Given the description of an element on the screen output the (x, y) to click on. 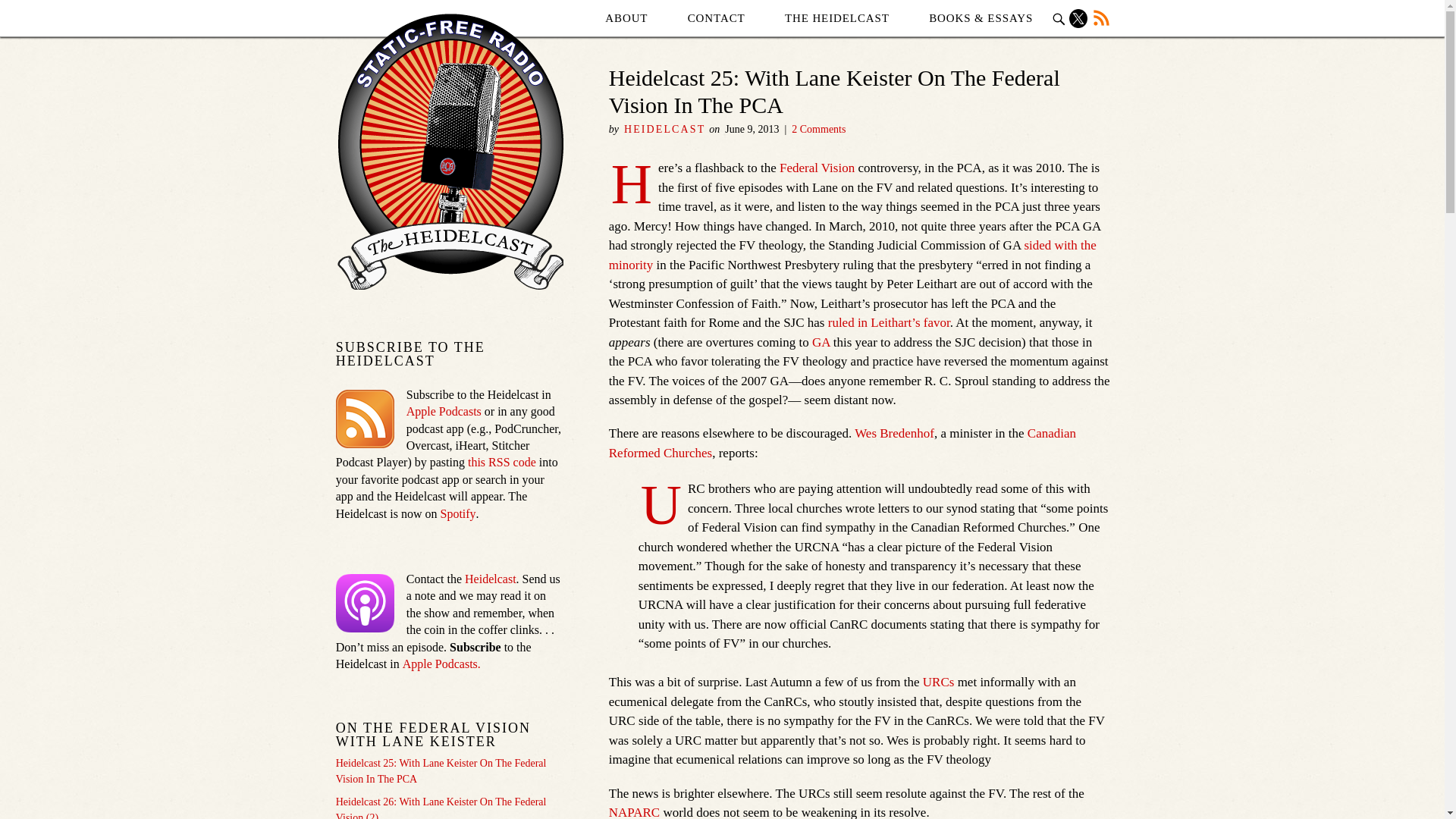
About (625, 18)
2 Comments (818, 129)
NAPARC (633, 812)
GA (820, 341)
Contact (715, 18)
HEIDELCAST (664, 129)
CONTACT (715, 18)
sided with the minority (852, 254)
Wes Bredenhof (894, 432)
ABOUT (625, 18)
URCs (939, 681)
The Heidelcast (837, 18)
Federal Vision (816, 167)
